Given the description of an element on the screen output the (x, y) to click on. 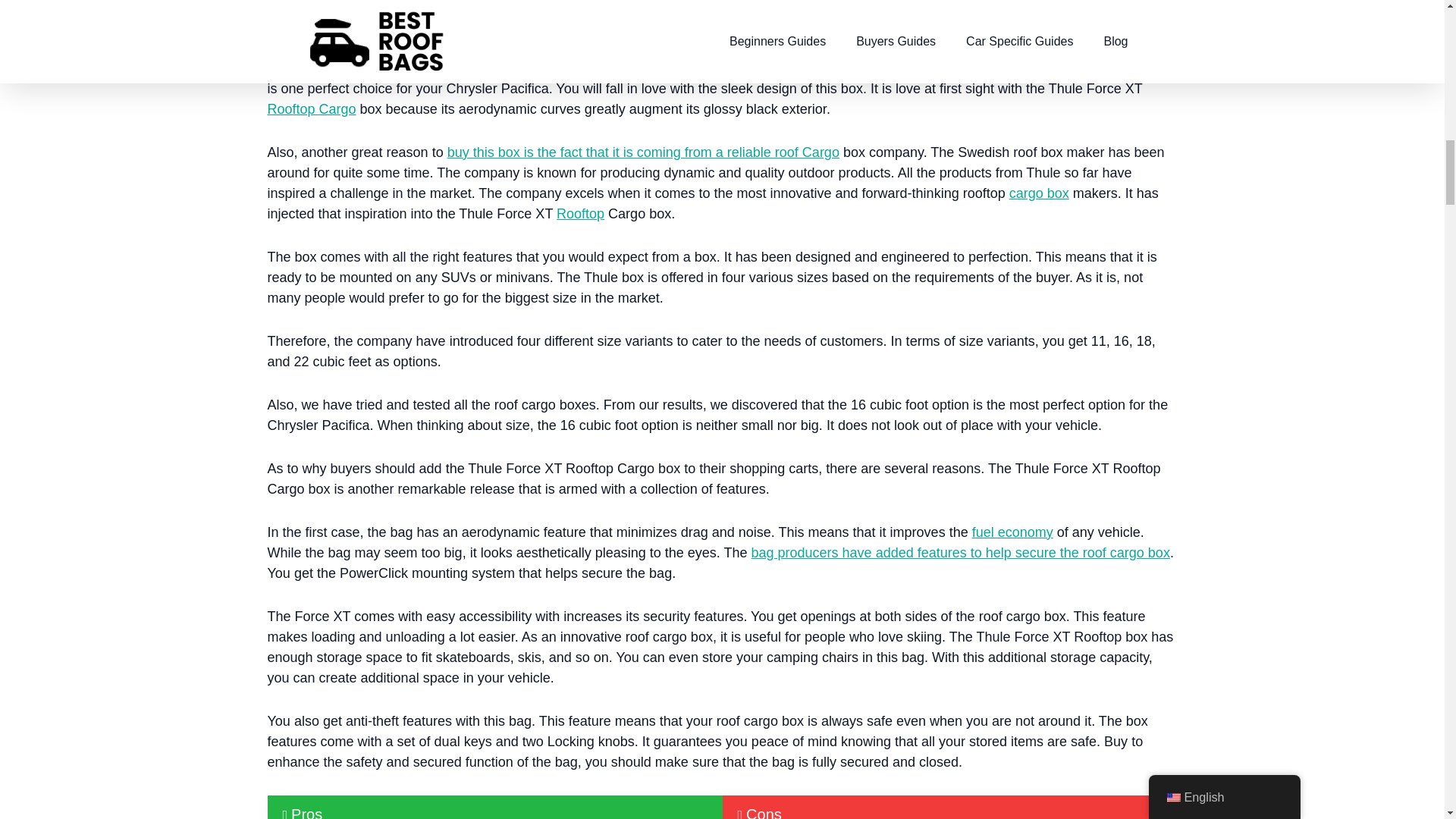
cargo box (1038, 192)
Rooftop (580, 213)
Rooftop Cargo (310, 109)
Chrysler Pacifica Roof Storage 2023 2 (654, 29)
fuel economy (1012, 531)
